Given the description of an element on the screen output the (x, y) to click on. 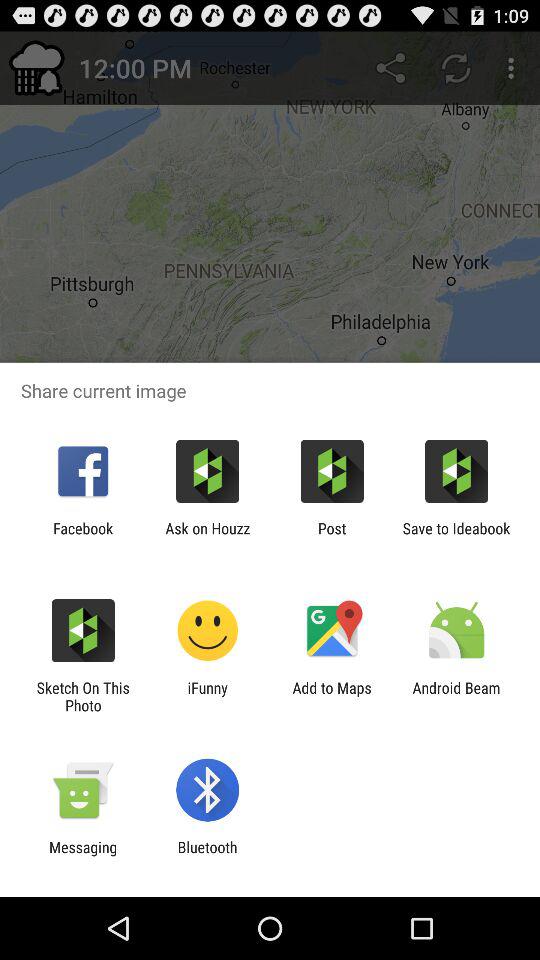
turn on the item to the left of bluetooth item (83, 856)
